Given the description of an element on the screen output the (x, y) to click on. 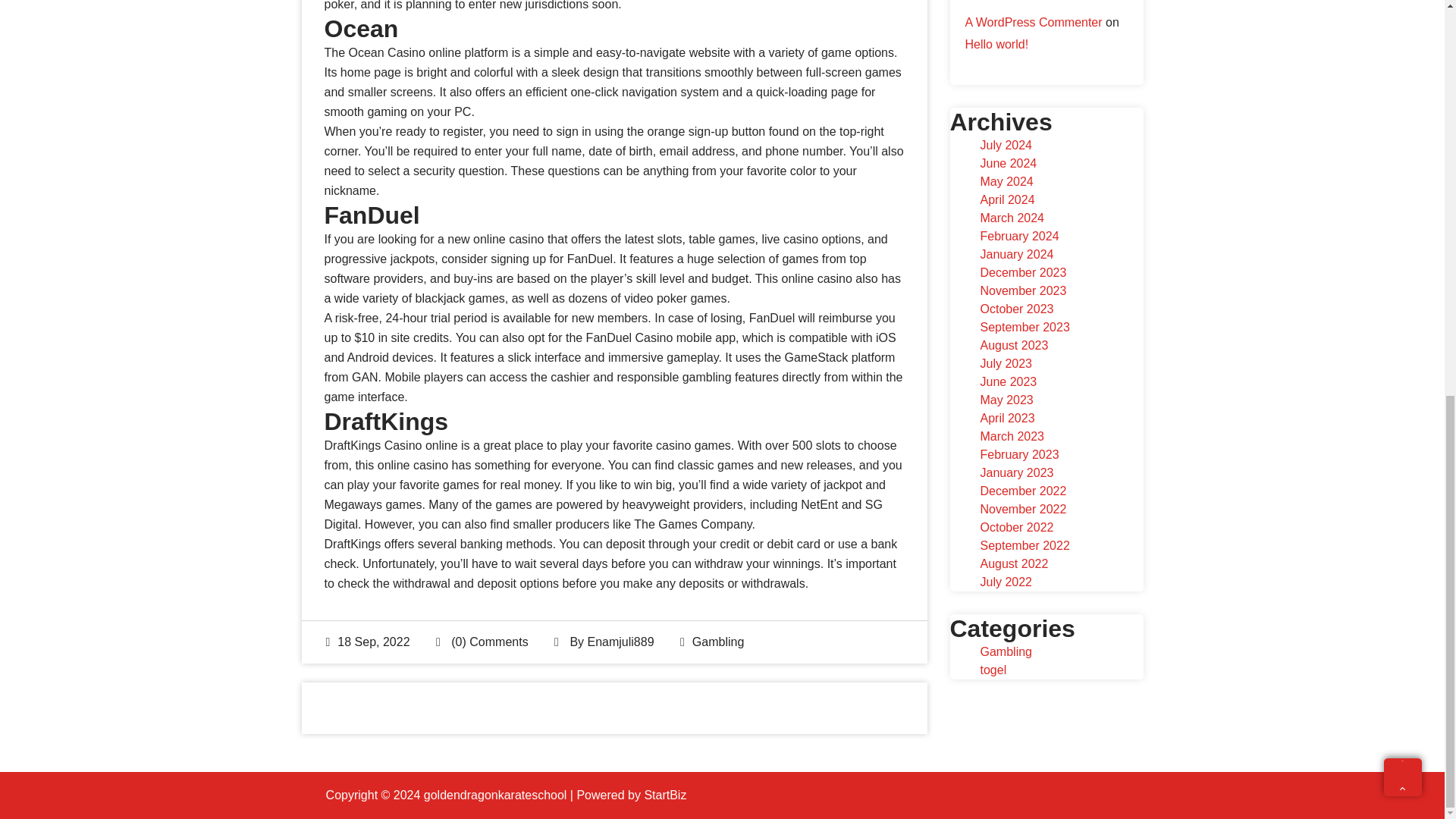
December 2023 (1022, 272)
January 2024 (1015, 254)
Enamjuli889 (619, 641)
April 2023 (1006, 418)
18 Sep, 2022 (368, 641)
February 2023 (1018, 454)
June 2023 (1007, 381)
July 2023 (1005, 363)
June 2024 (1007, 163)
February 2024 (1018, 236)
March 2024 (1011, 217)
A WordPress Commenter (1032, 21)
May 2023 (1005, 399)
Hello world! (995, 43)
Gambling (718, 641)
